Given the description of an element on the screen output the (x, y) to click on. 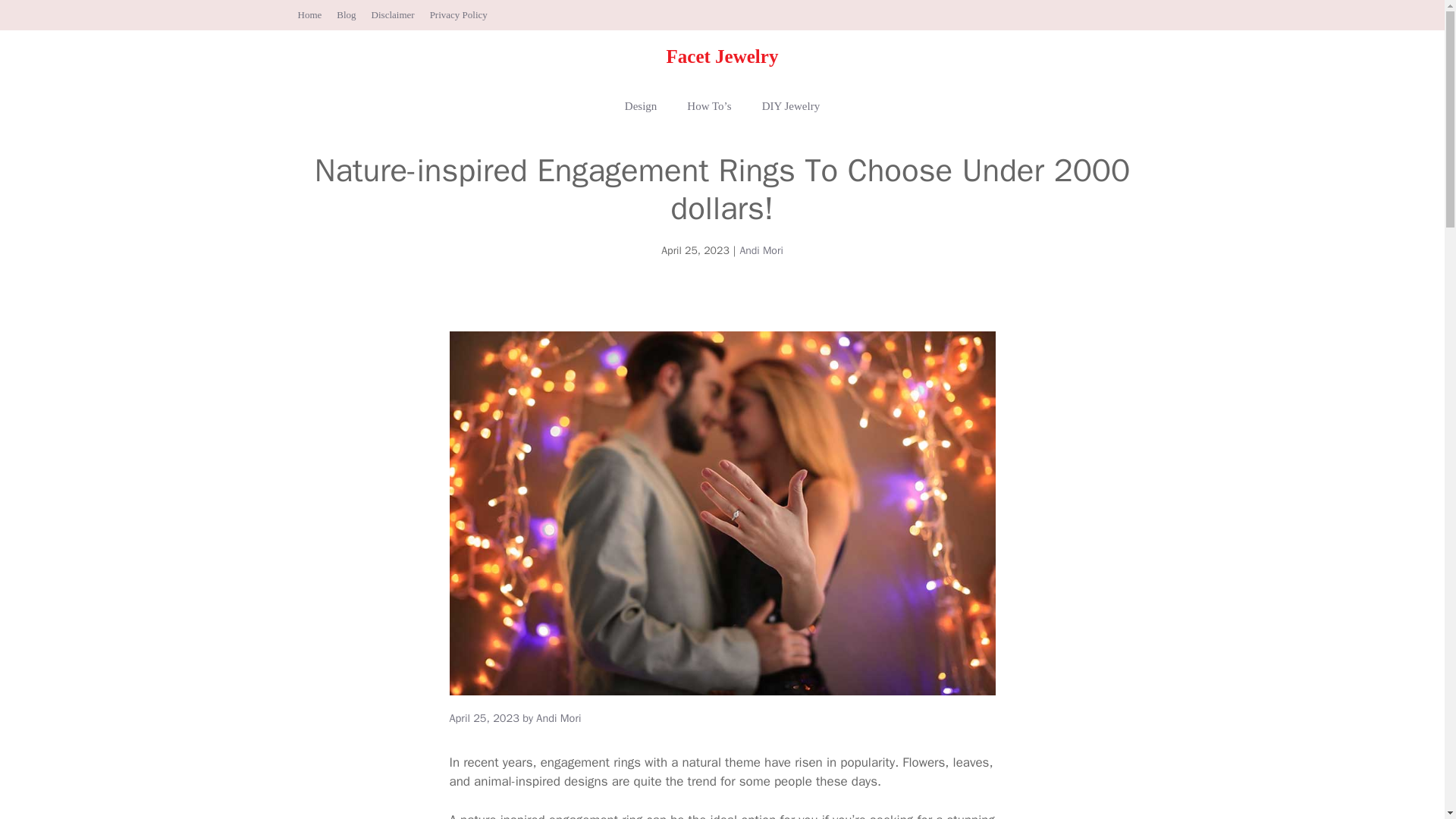
Home (309, 14)
Disclaimer (392, 14)
Andi Mori (557, 717)
View all posts by Andi Mori (557, 717)
DIY Jewelry (790, 105)
Blog (345, 14)
Design (641, 105)
Facet Jewelry (722, 55)
Privacy Policy (458, 14)
Andi Mori (761, 250)
